Given the description of an element on the screen output the (x, y) to click on. 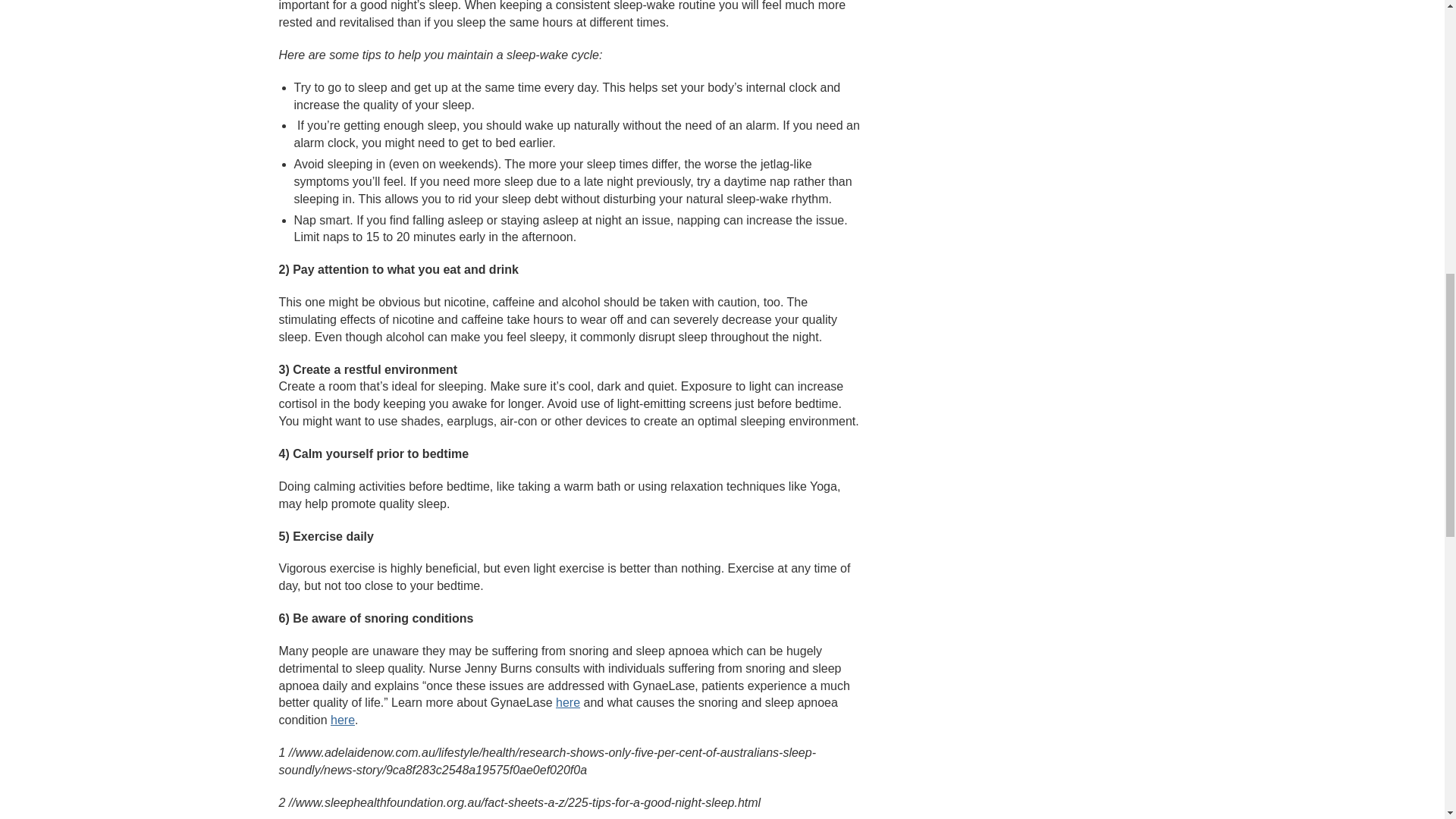
here (567, 702)
here (342, 719)
